Given the description of an element on the screen output the (x, y) to click on. 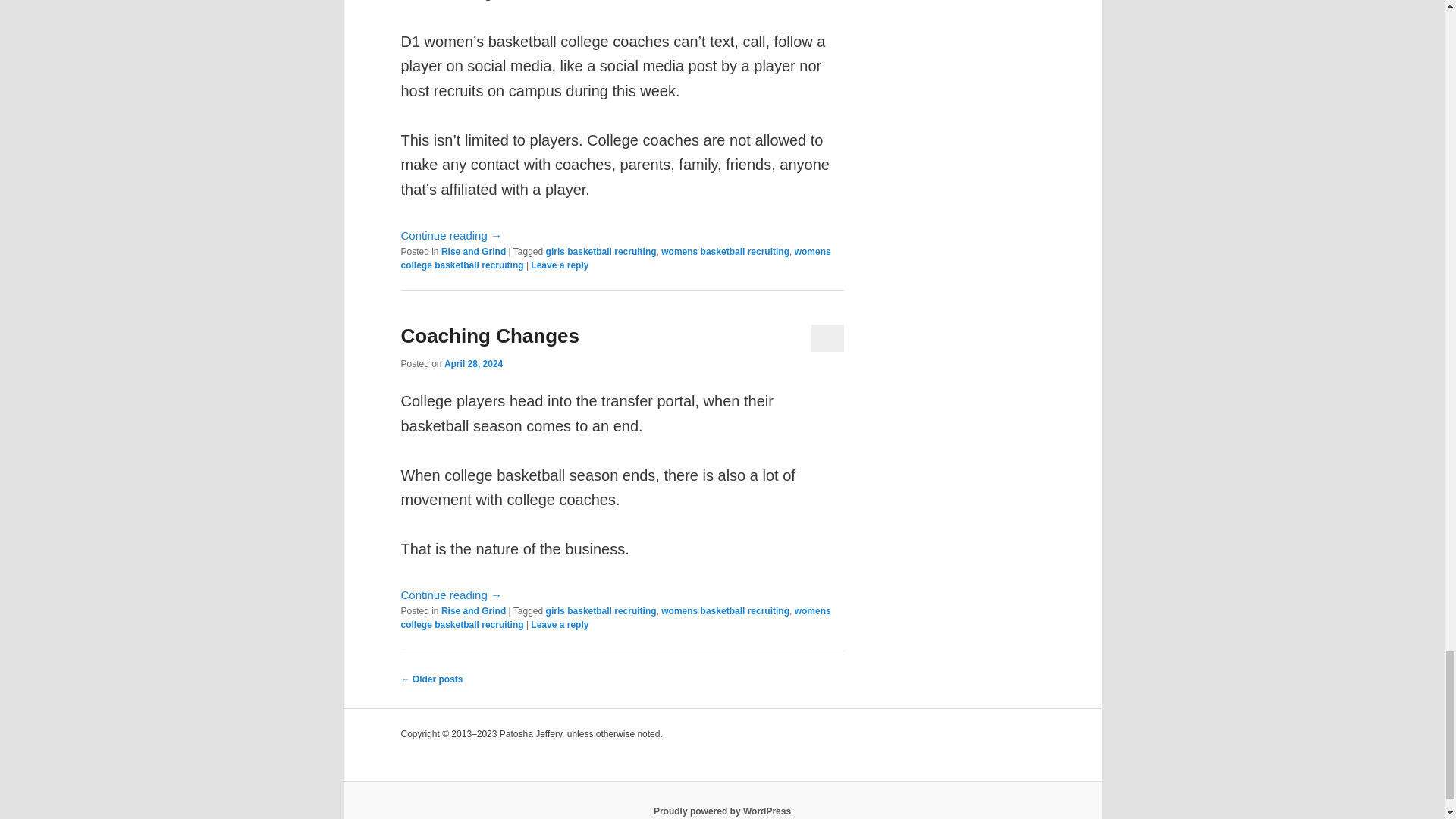
Semantic Personal Publishing Platform (721, 810)
Rise and Grind (473, 251)
girls basketball recruiting (601, 251)
7:30 pm (473, 363)
